Given the description of an element on the screen output the (x, y) to click on. 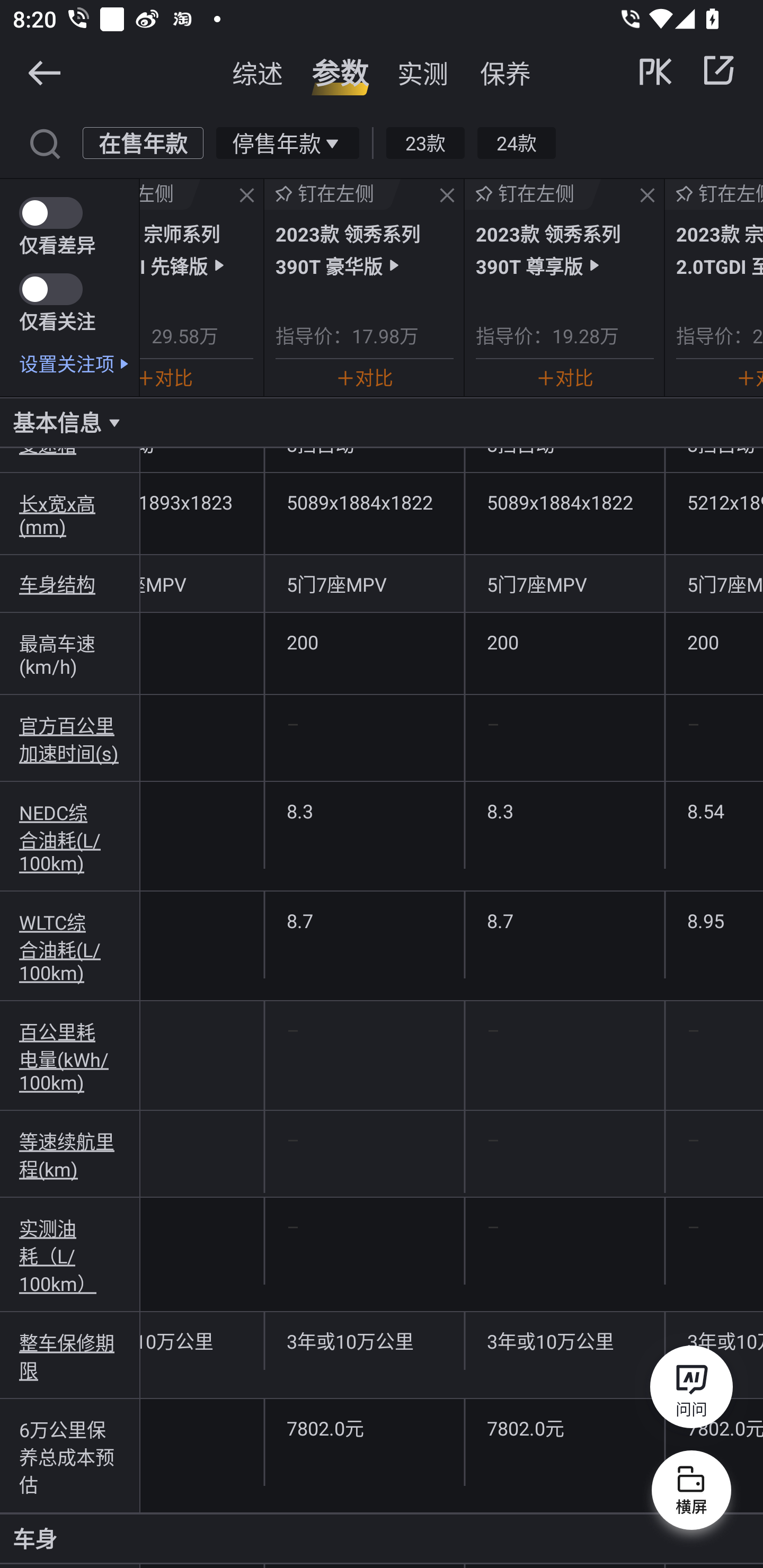
  (688, 70)
综述 (257, 72)
实测 (422, 72)
保养 (505, 72)
 (718, 70)
 (44, 71)
 (44, 142)
在售年款 (142, 142)
停售年款  (287, 142)
23款 (425, 142)
24款 (516, 142)
 钉在左侧 (169, 194)
 (246, 195)
 钉在左侧 (332, 194)
 (446, 195)
 钉在左侧 (532, 194)
 (647, 195)
2024款 宗师系列 2.0TGDI 先锋版  (196, 249)
2023款 领秀系列 390T 豪华版  (364, 249)
2023款 领秀系列 390T 尊享版  (564, 249)
设置关注项  (79, 363)
对比 (166, 377)
对比 (363, 377)
对比 (564, 377)
基本信息  (381, 422)
5212x1893x1823 (201, 502)
5089x1884x1822 (364, 502)
5089x1884x1822 (564, 502)
长x宽x高(mm) (69, 514)
5门7座MPV (201, 584)
5门7座MPV (364, 584)
5门7座MPV (564, 584)
车身结构 (69, 583)
200 (364, 642)
200 (564, 642)
200 (714, 642)
最高车速(km/h) (69, 653)
官方百公里加速时间(s) (69, 738)
8.3 (364, 810)
8.3 (564, 810)
8.54 (714, 810)
NEDC综合油耗(L/100km) (69, 836)
8.7 (364, 920)
8.7 (564, 920)
8.95 (714, 920)
WLTC综合油耗(L/100km) (69, 945)
百公里耗电量(kWh/100km) (69, 1055)
等速续航里程(km) (69, 1154)
实测油耗（L/100km） (69, 1254)
3年或10万公里 (201, 1341)
3年或10万公里 (364, 1341)
3年或10万公里 (564, 1341)
整车保修期限 (69, 1355)
 问问 (691, 1389)
7802.0元 (364, 1427)
7802.0元 (564, 1427)
6万公里保养总成本预估 (69, 1455)
